Given the description of an element on the screen output the (x, y) to click on. 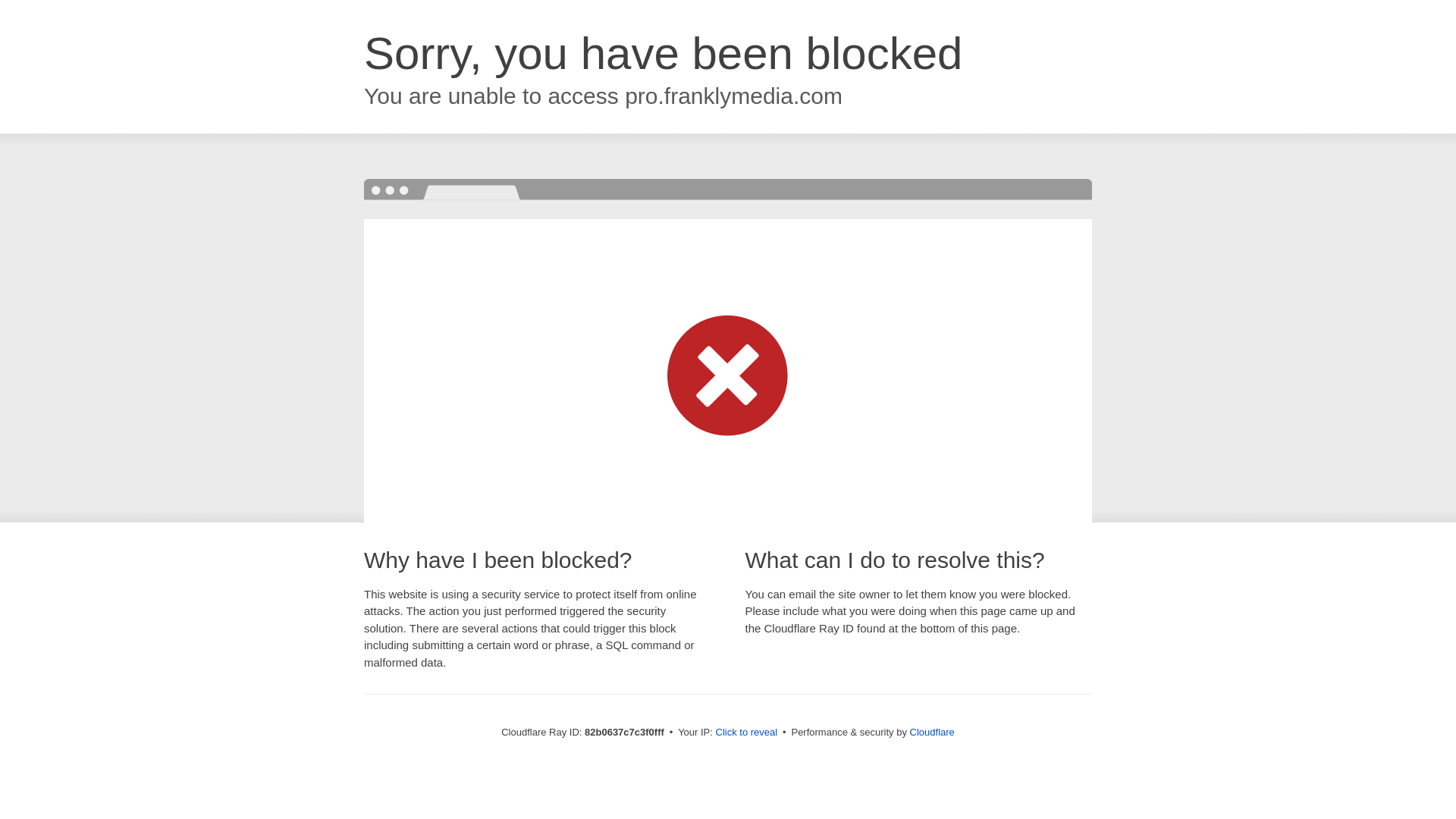
Click to reveal Element type: text (746, 732)
Cloudflare Element type: text (932, 731)
